Given the description of an element on the screen output the (x, y) to click on. 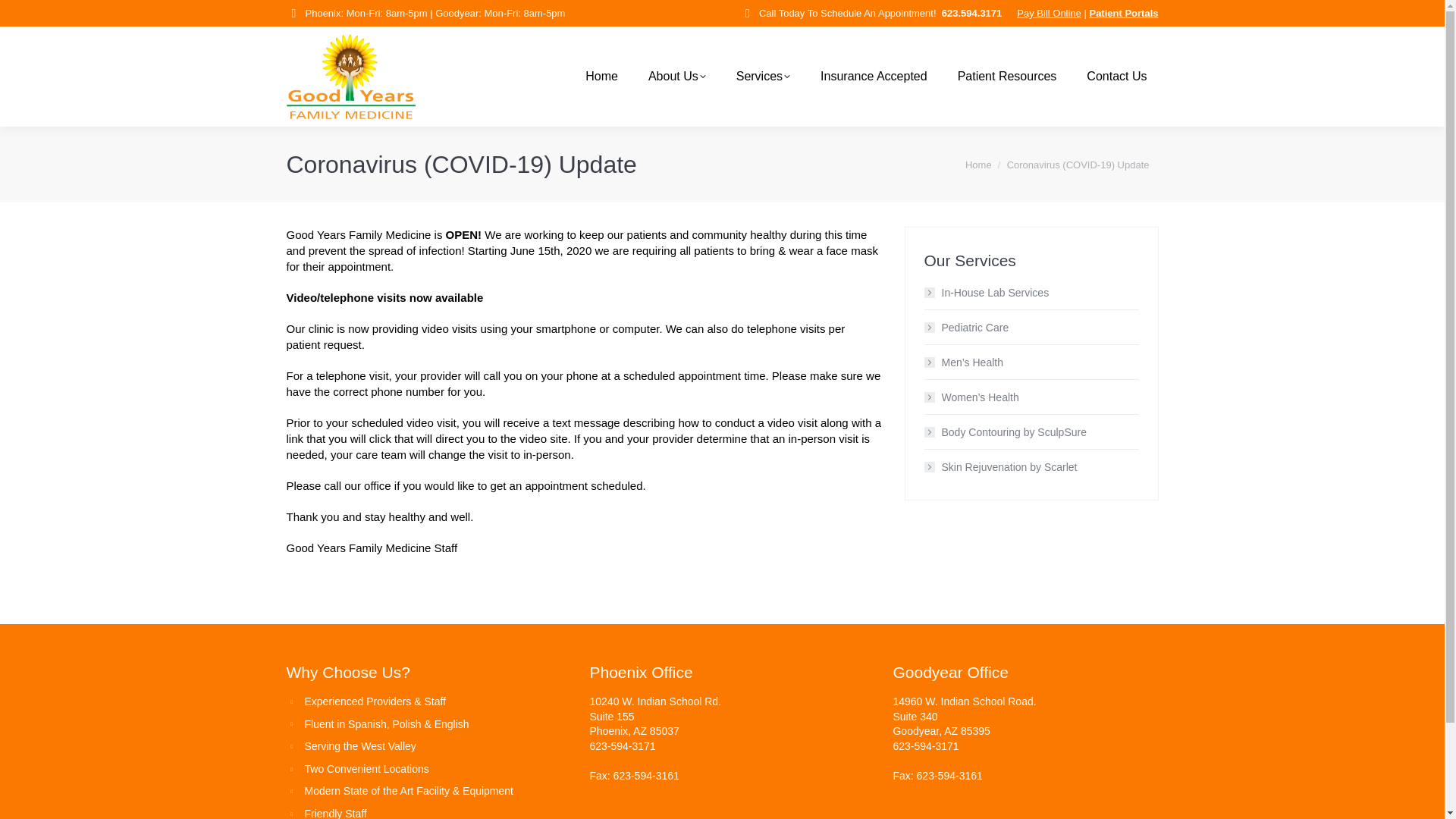
In-House Lab Services (985, 292)
Home (978, 164)
Insurance Accepted (874, 76)
Home (978, 164)
Pay Bill Online (1048, 12)
Patient Resources (1007, 76)
Pediatric Care (966, 327)
Patient Portals (1123, 12)
